Given the description of an element on the screen output the (x, y) to click on. 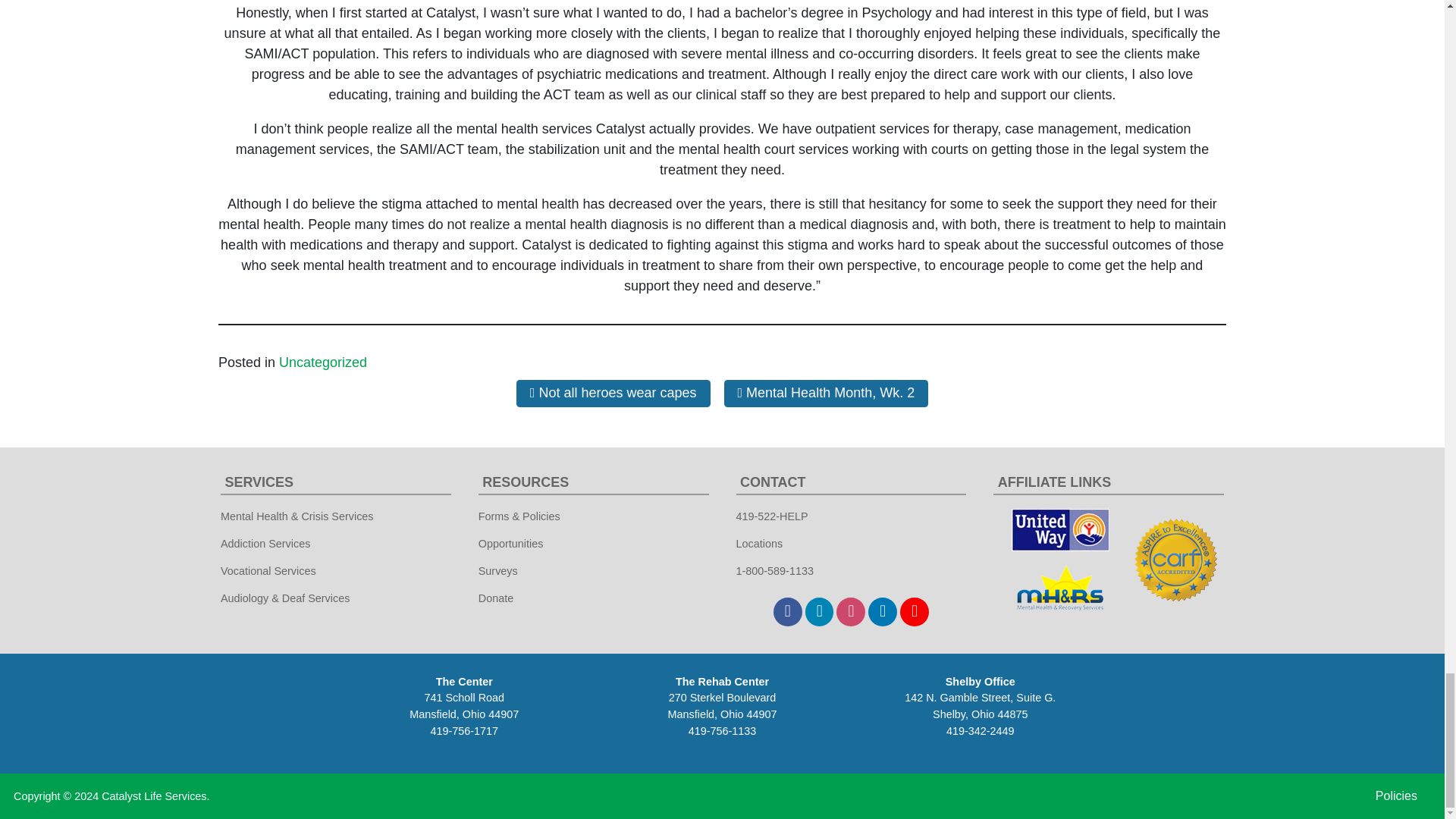
Not all heroes wear capes (613, 393)
Instagram (849, 611)
Addiction Services (265, 542)
LinkedIn (881, 611)
1-800-589-1133 (774, 569)
Donate (496, 596)
Facebook (787, 611)
YouTube (913, 611)
Uncategorized (322, 362)
Locations (758, 542)
Twitter (819, 611)
YouTube (913, 611)
Mental Health Month, Wk. 2 (825, 393)
LinkedIn (881, 611)
Twitter (819, 611)
